Given the description of an element on the screen output the (x, y) to click on. 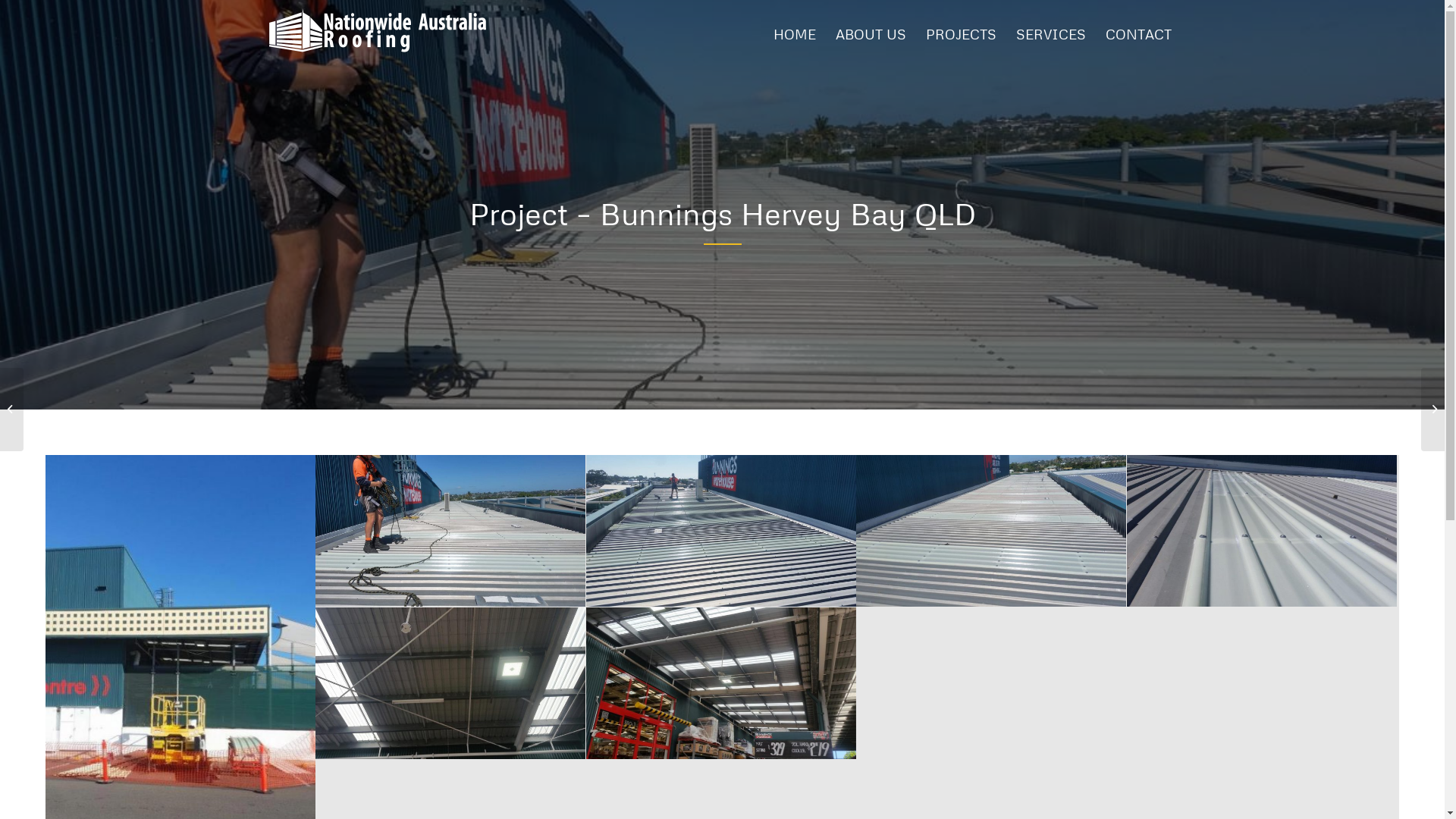
PROJECTS Element type: text (961, 34)
bunnings-qld-7 Element type: hover (721, 683)
bunnings-qld-5 Element type: hover (450, 530)
SERVICES Element type: text (1050, 34)
logo-transparent Element type: hover (377, 30)
bunnings-qld-3 Element type: hover (991, 530)
bunnings-qld-6 Element type: hover (450, 683)
bunnings-qld-4 Element type: hover (721, 531)
bunnings-qld-2 Element type: hover (1261, 531)
bunnings-qld-2 Element type: hover (1261, 530)
CONTACT Element type: text (1137, 34)
ABOUT US Element type: text (870, 34)
bunnings-qld-3 Element type: hover (991, 531)
bunnings-qld-7 Element type: hover (721, 683)
bunnings-qld-4 Element type: hover (721, 530)
HOME Element type: text (793, 34)
bunnings-qld-5 Element type: hover (450, 531)
bunnings-qld-6 Element type: hover (450, 683)
